Given the description of an element on the screen output the (x, y) to click on. 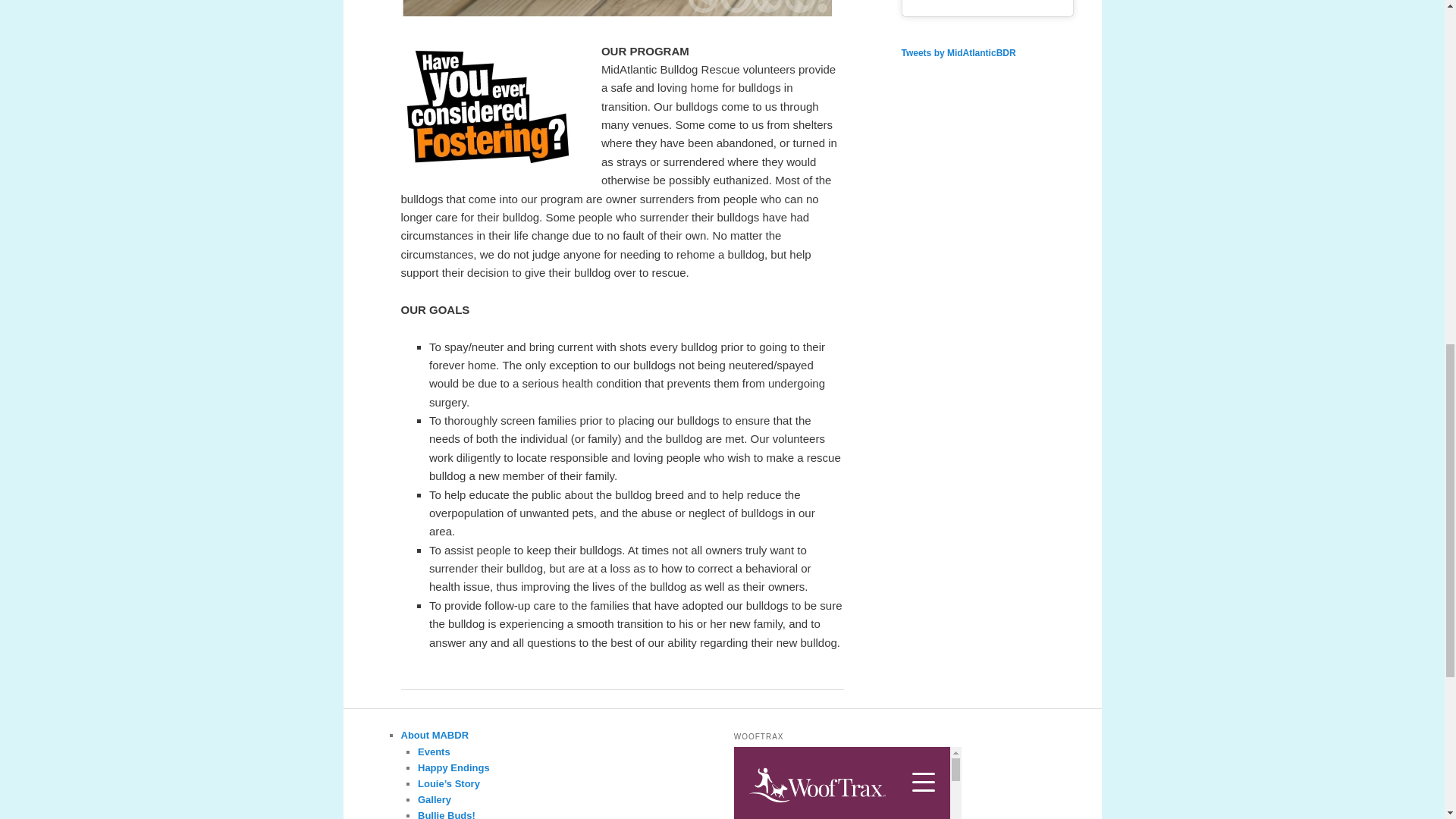
Bullie Buds! (446, 814)
Events (433, 751)
Happy Endings (453, 767)
Tweets by MidAtlanticBDR (957, 52)
Gallery (434, 799)
About MABDR (434, 735)
